Given the description of an element on the screen output the (x, y) to click on. 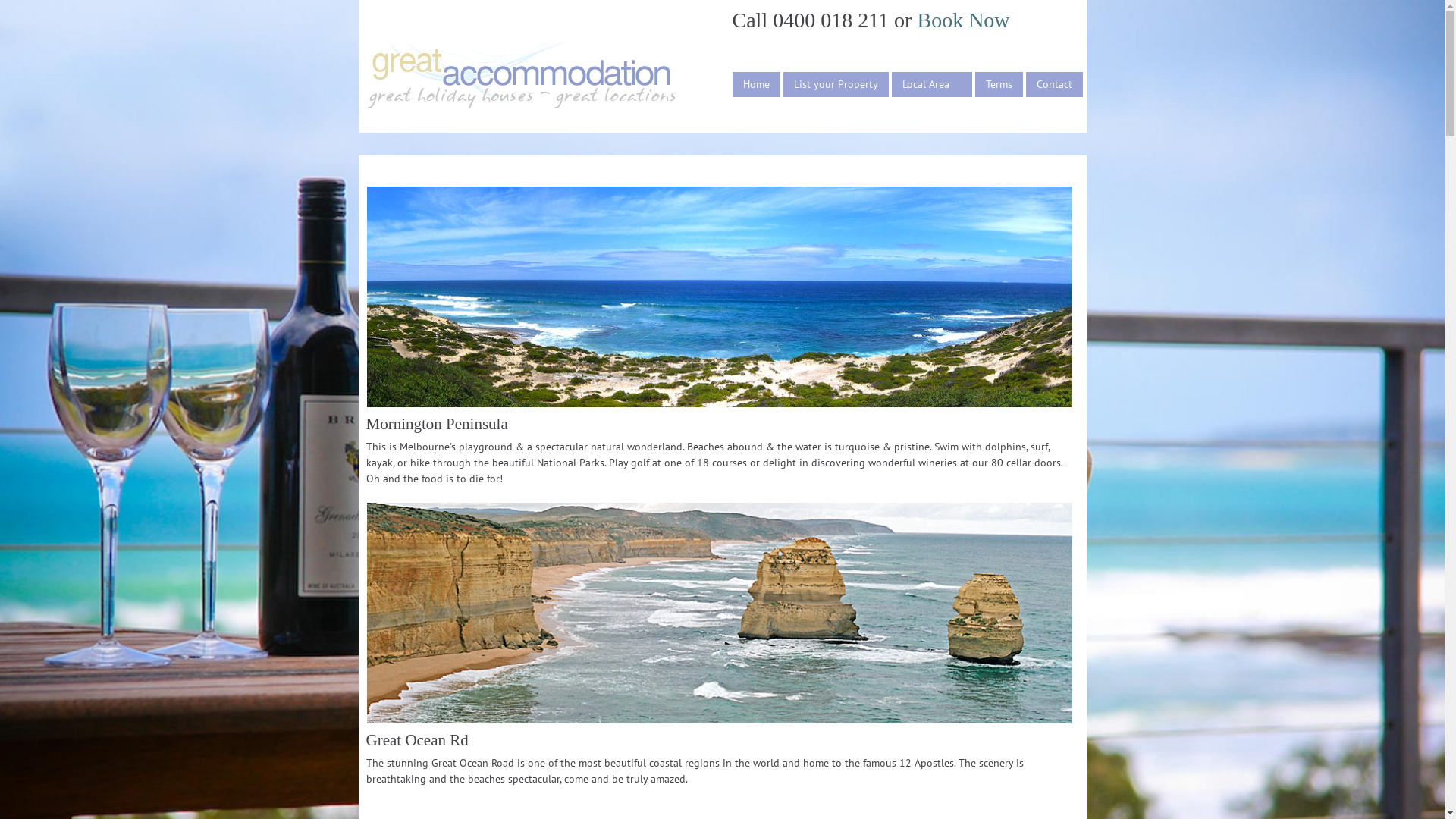
Book Now Element type: text (962, 19)
Home Element type: text (756, 84)
Contact Element type: text (1053, 84)
List your Property Element type: text (835, 84)
Local Area Element type: text (931, 84)
Terms Element type: text (998, 84)
